Given the description of an element on the screen output the (x, y) to click on. 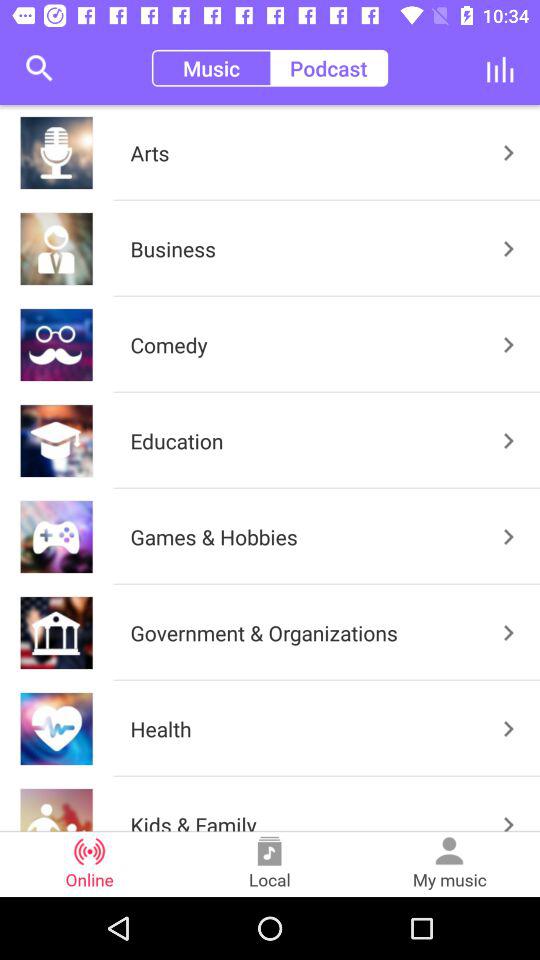
turn on the local (270, 863)
